Given the description of an element on the screen output the (x, y) to click on. 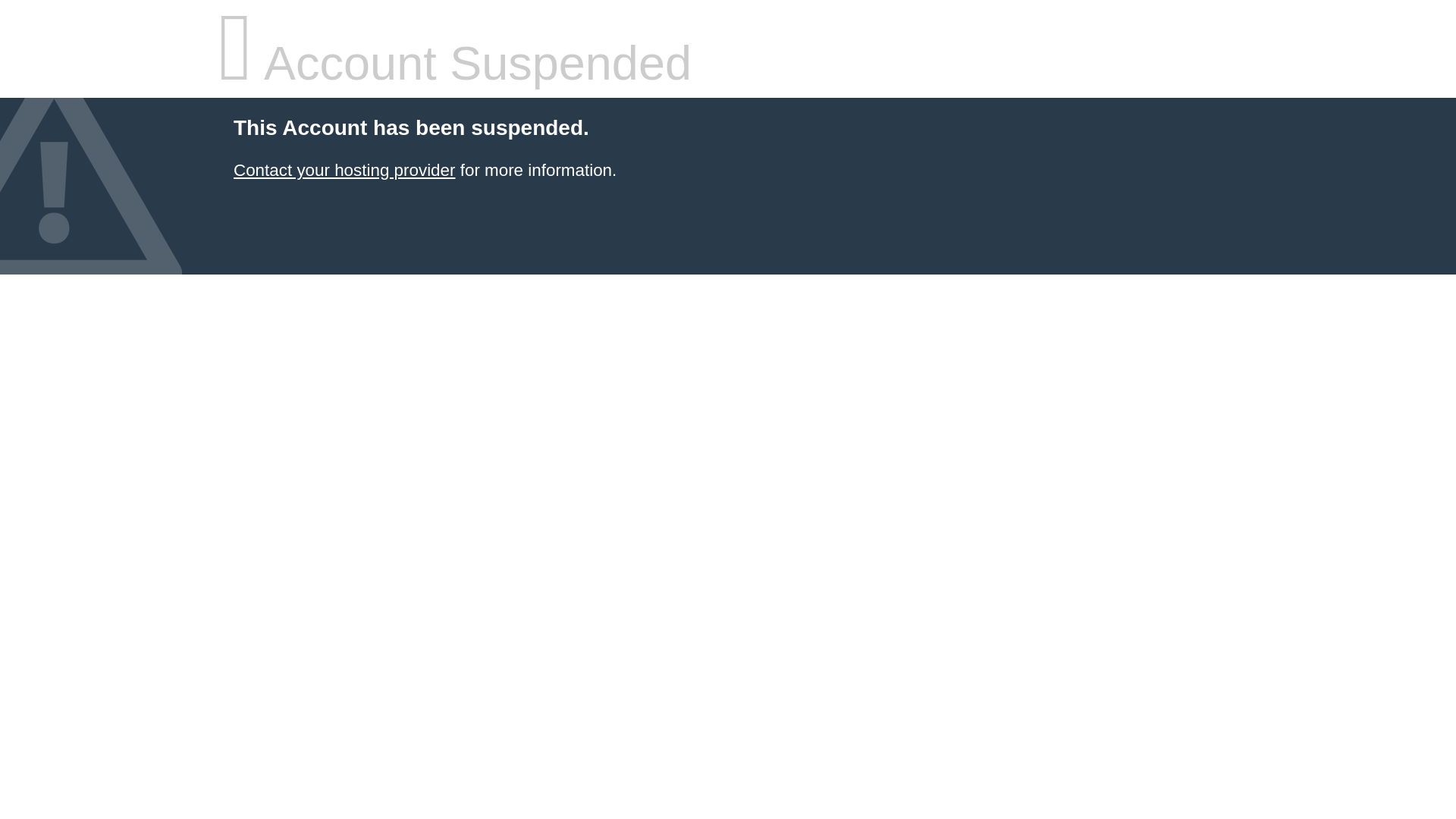
Contact your hosting provider (343, 169)
